Given the description of an element on the screen output the (x, y) to click on. 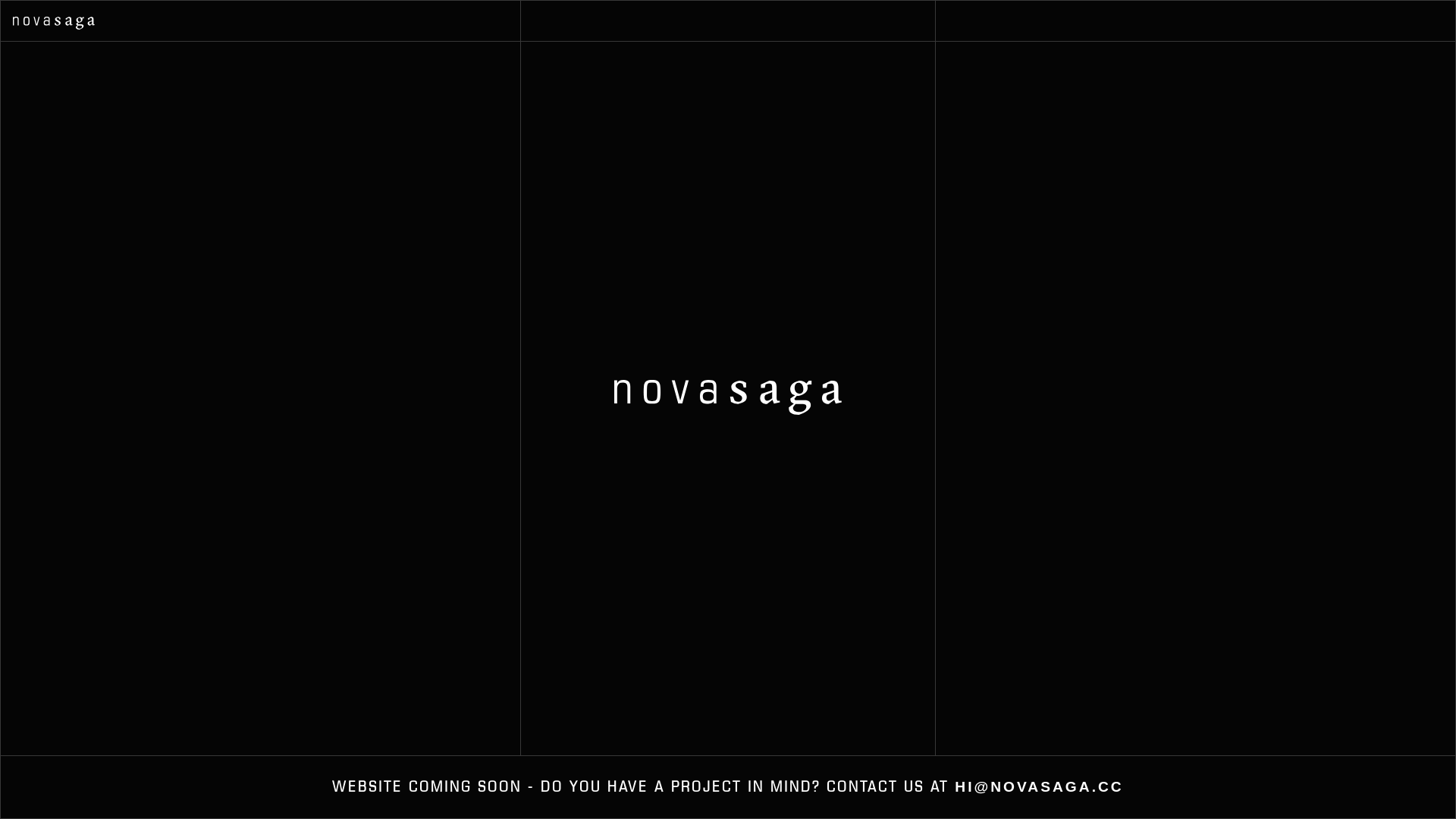
HI@NOVASAGA.CC Element type: text (1038, 786)
